Given the description of an element on the screen output the (x, y) to click on. 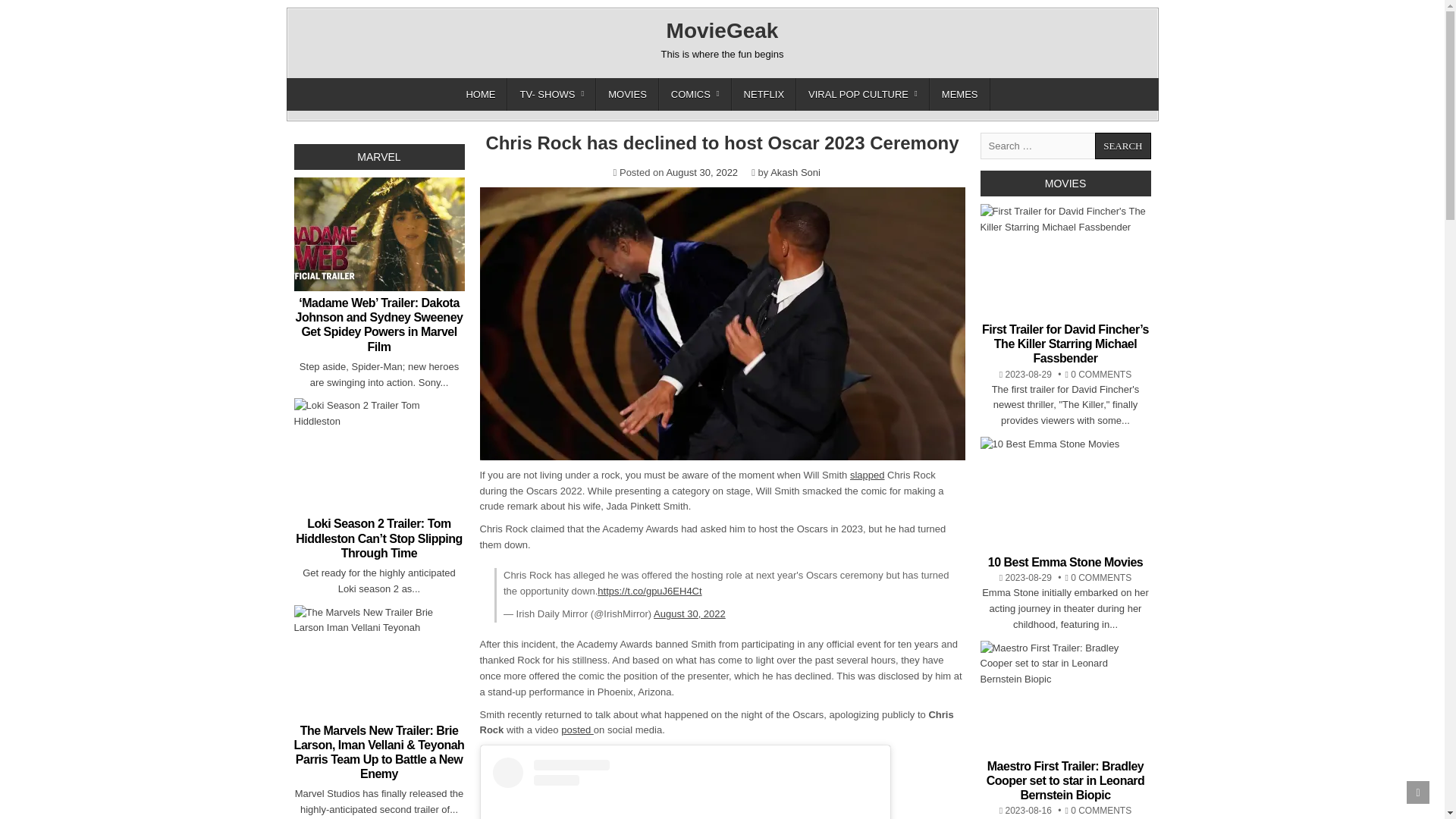
Search (1122, 145)
VIRAL POP CULTURE (863, 93)
View this post on Instagram (685, 788)
TV- SHOWS (550, 93)
August 30, 2022 (689, 613)
posted (577, 729)
Search (1122, 145)
NETFLIX (764, 93)
MOVIES (627, 93)
MovieGeak (722, 30)
